Given the description of an element on the screen output the (x, y) to click on. 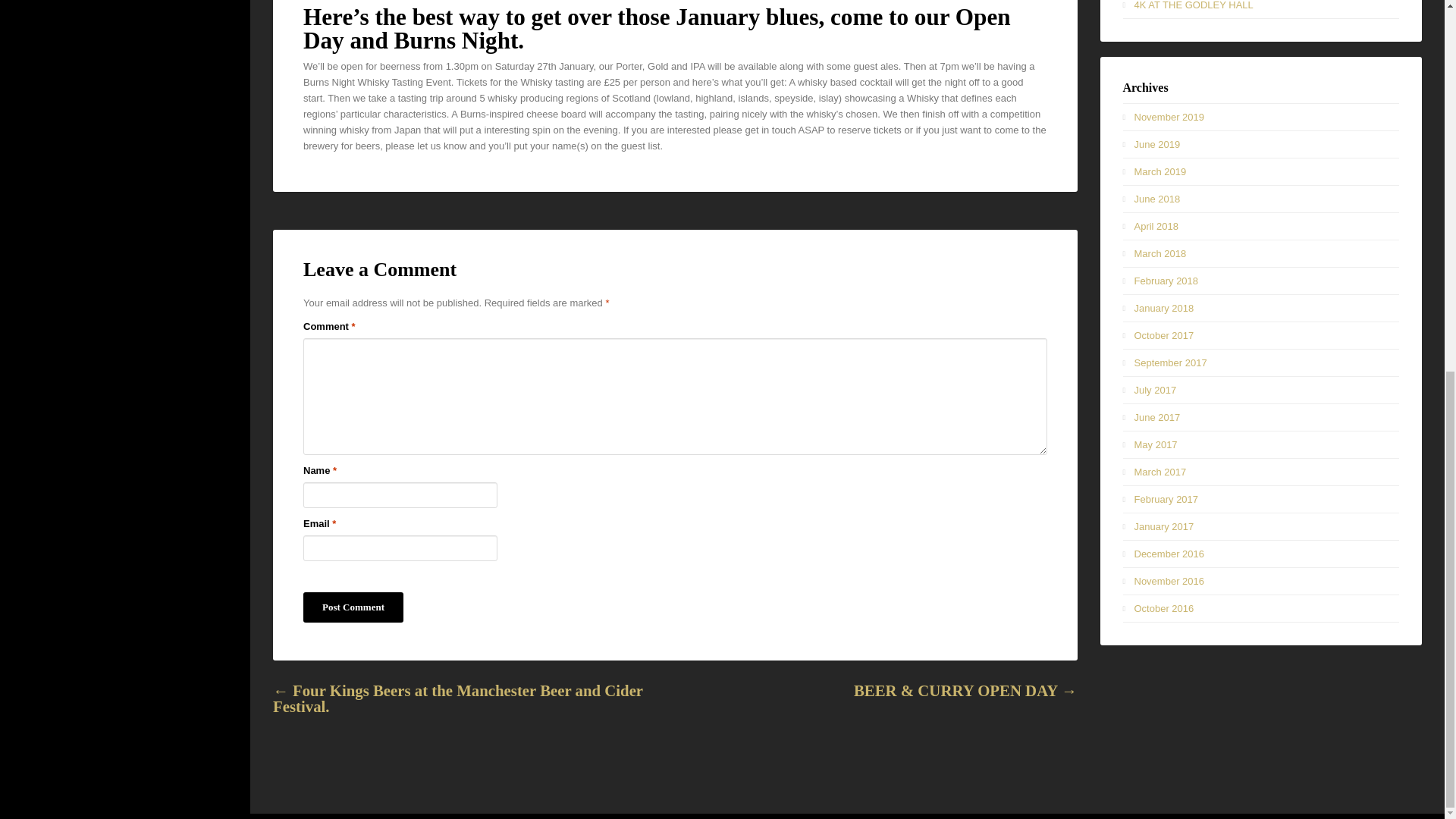
Post Comment (352, 607)
4K AT THE GODLEY HALL (1193, 5)
Post Comment (352, 607)
